Given the description of an element on the screen output the (x, y) to click on. 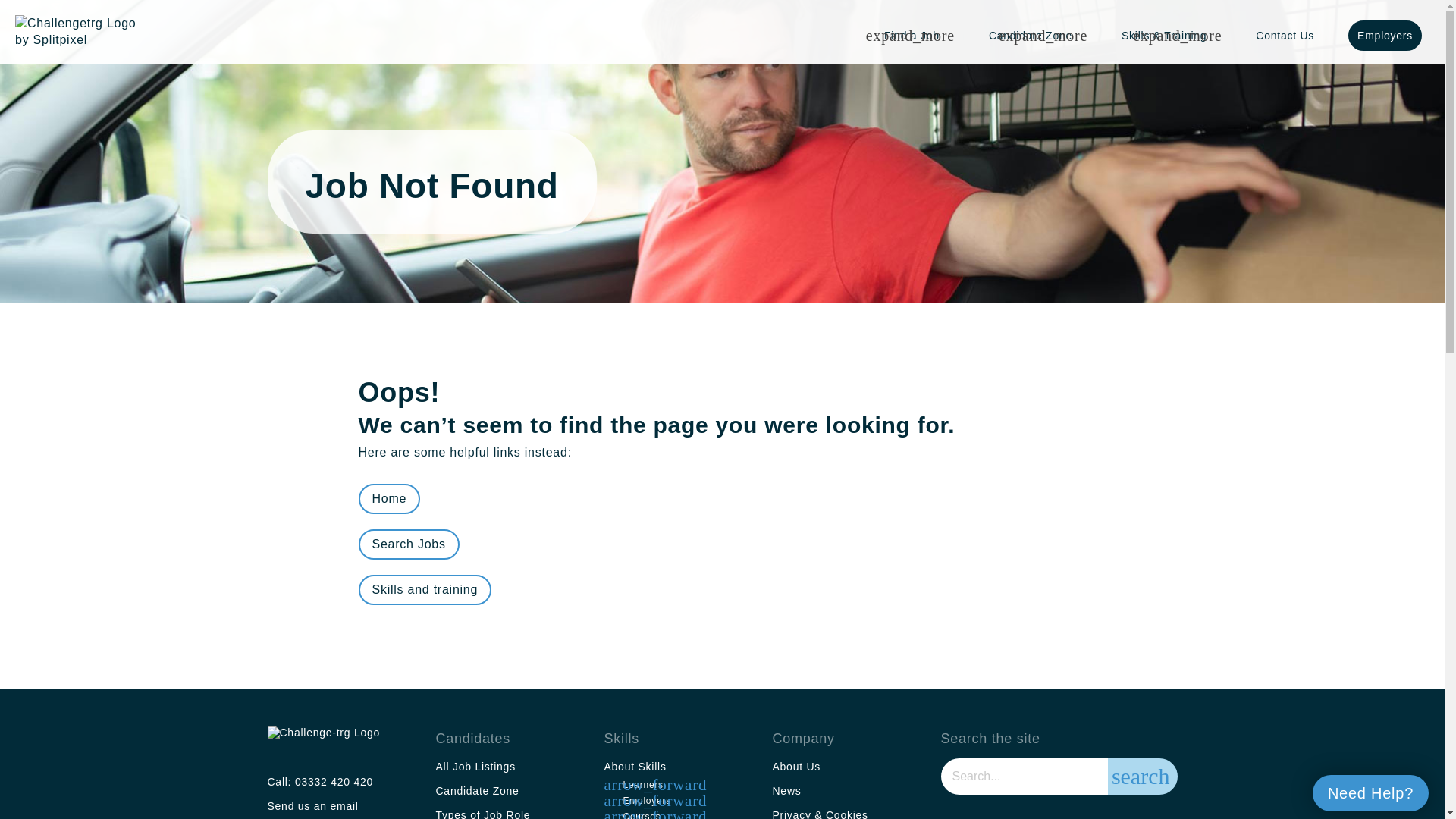
Need Help? (1370, 792)
search (1142, 776)
Find a Job (917, 35)
